Given the description of an element on the screen output the (x, y) to click on. 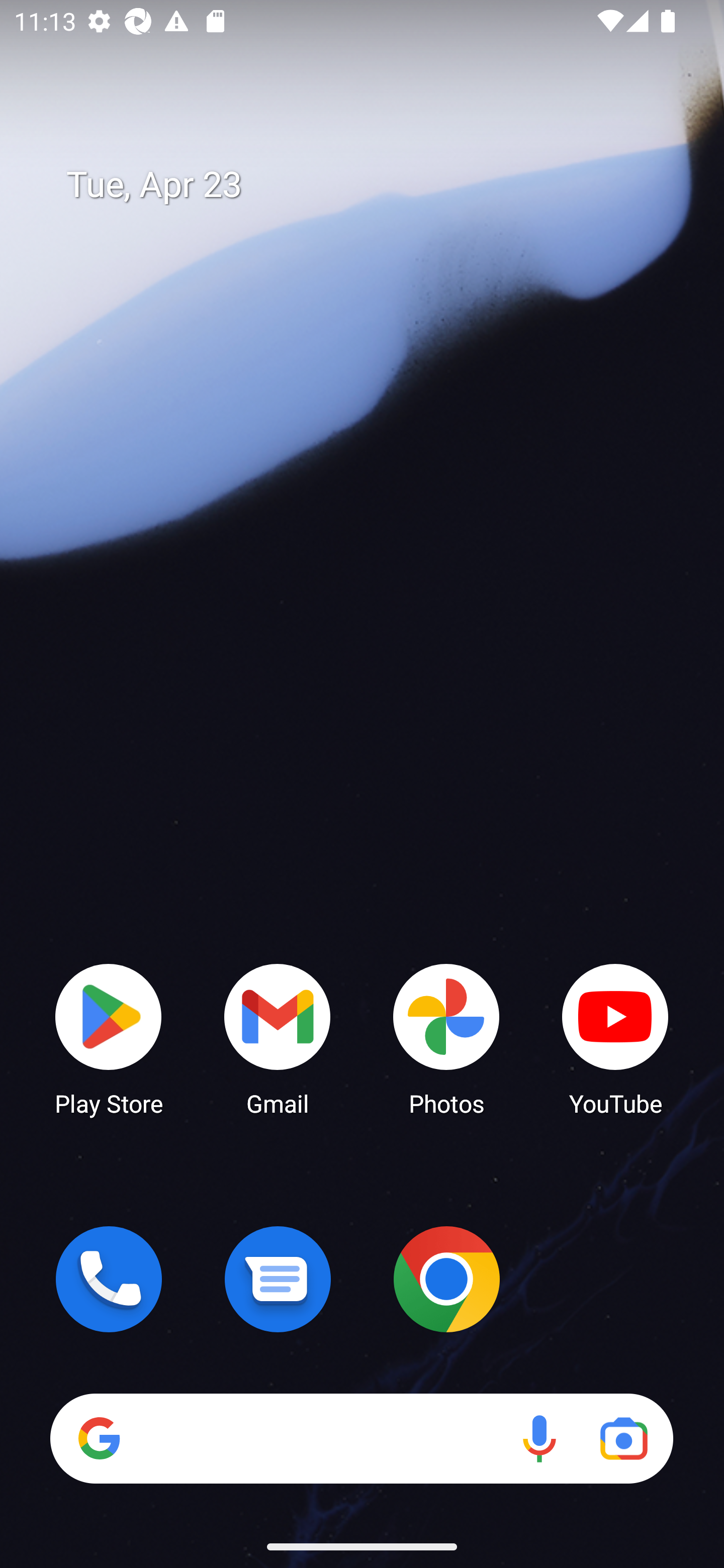
Tue, Apr 23 (375, 184)
Play Store (108, 1038)
Gmail (277, 1038)
Photos (445, 1038)
YouTube (615, 1038)
Phone (108, 1279)
Messages (277, 1279)
Chrome (446, 1279)
Search Voice search Google Lens (361, 1438)
Voice search (539, 1438)
Google Lens (623, 1438)
